Given the description of an element on the screen output the (x, y) to click on. 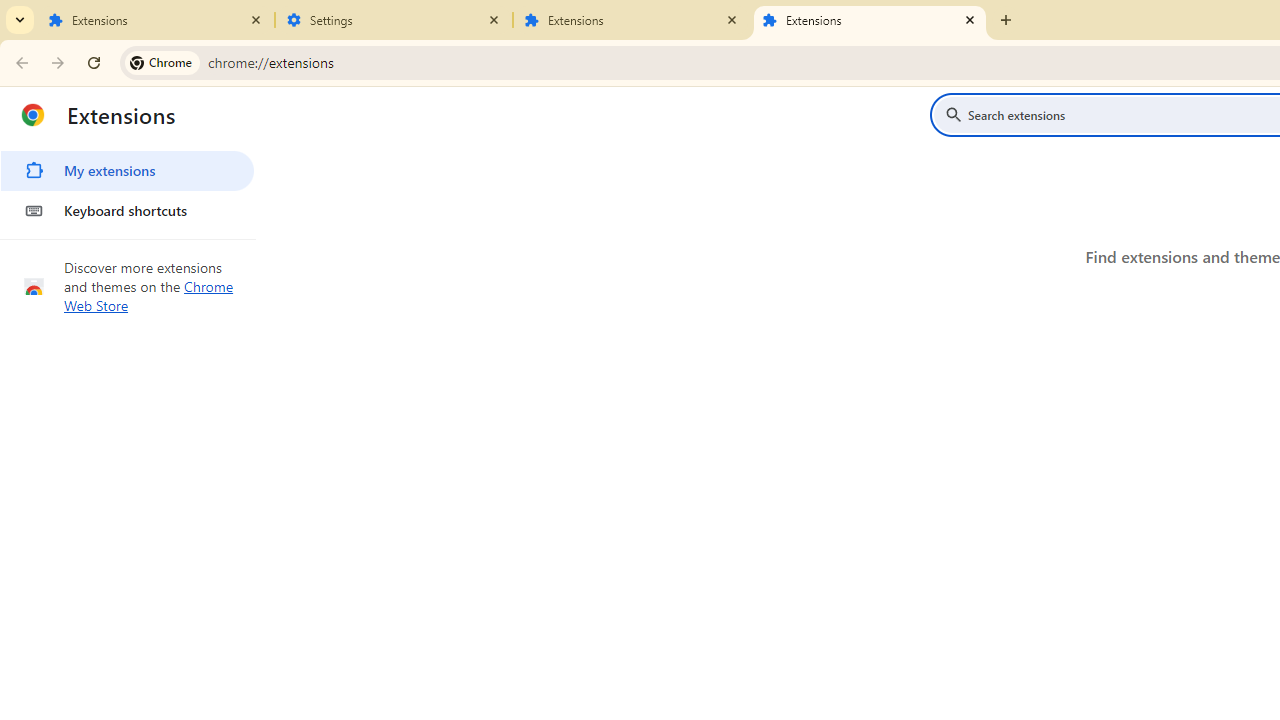
My extensions (127, 170)
AutomationID: sectionMenu (128, 187)
